Given the description of an element on the screen output the (x, y) to click on. 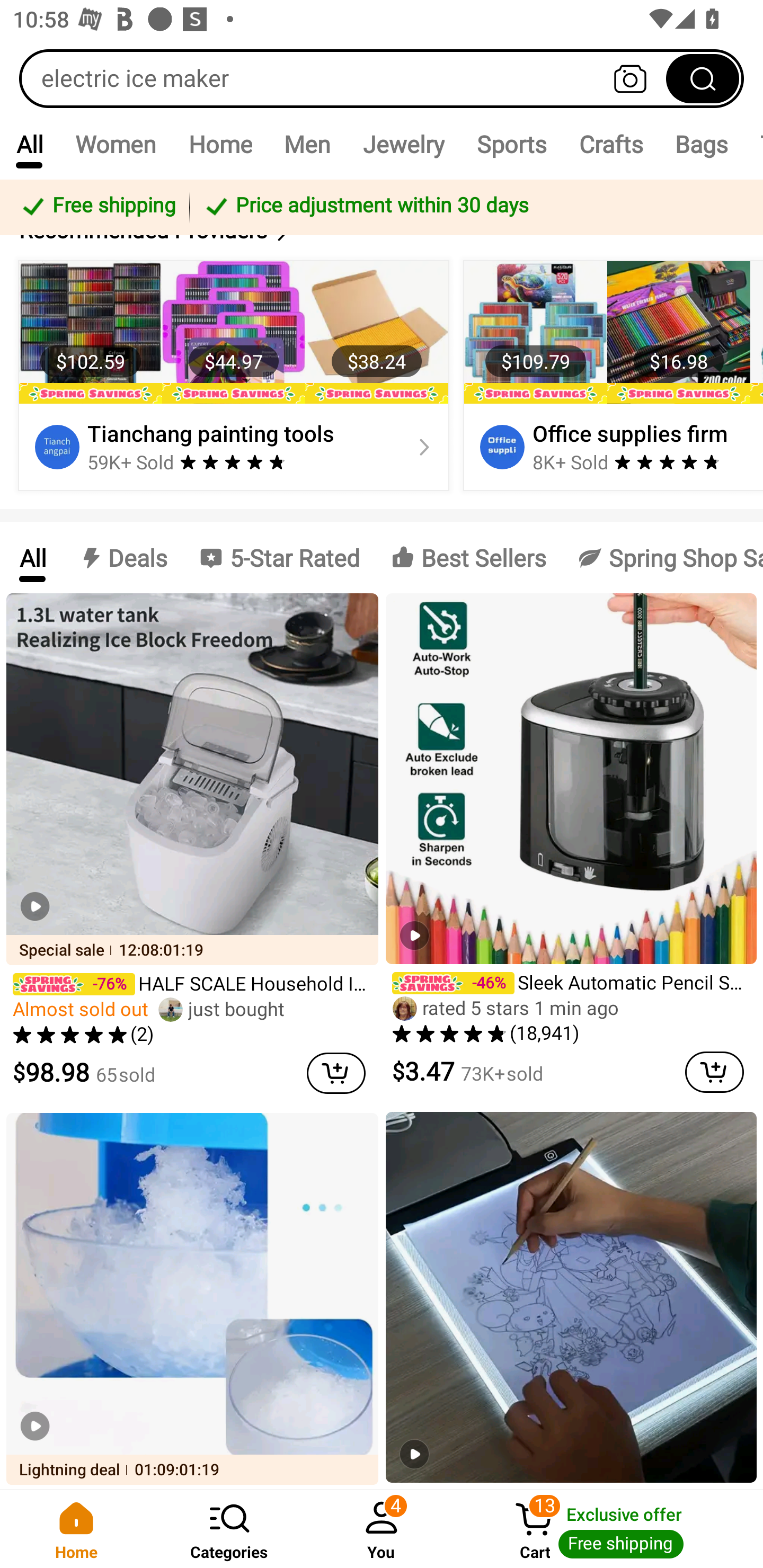
electric ice maker (381, 78)
All (29, 144)
Women (115, 144)
Home (219, 144)
Men (306, 144)
Jewelry (403, 144)
Sports (511, 144)
Crafts (611, 144)
Bags (701, 144)
Free shipping (97, 206)
Price adjustment within 30 days (472, 206)
$109.79 $16.98 Office supplies firm 8K+ Sold (610, 375)
All (32, 557)
Deals Deals Deals (122, 557)
5-Star Rated 5-Star Rated 5-Star Rated (279, 557)
Best Sellers Best Sellers Best Sellers (468, 557)
Spring Shop Save Spring Shop Save Spring Shop Save (662, 557)
cart delete (714, 1072)
cart delete (335, 1073)
Home (76, 1528)
Categories (228, 1528)
You 4 You (381, 1528)
Cart 13 Cart Exclusive offer (610, 1528)
